Given the description of an element on the screen output the (x, y) to click on. 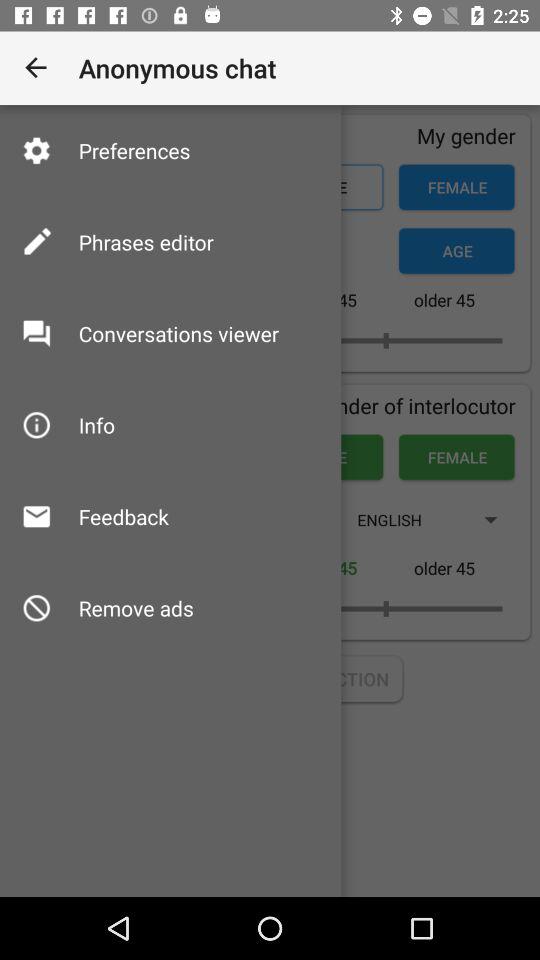
open phrases editor item (145, 241)
